Given the description of an element on the screen output the (x, y) to click on. 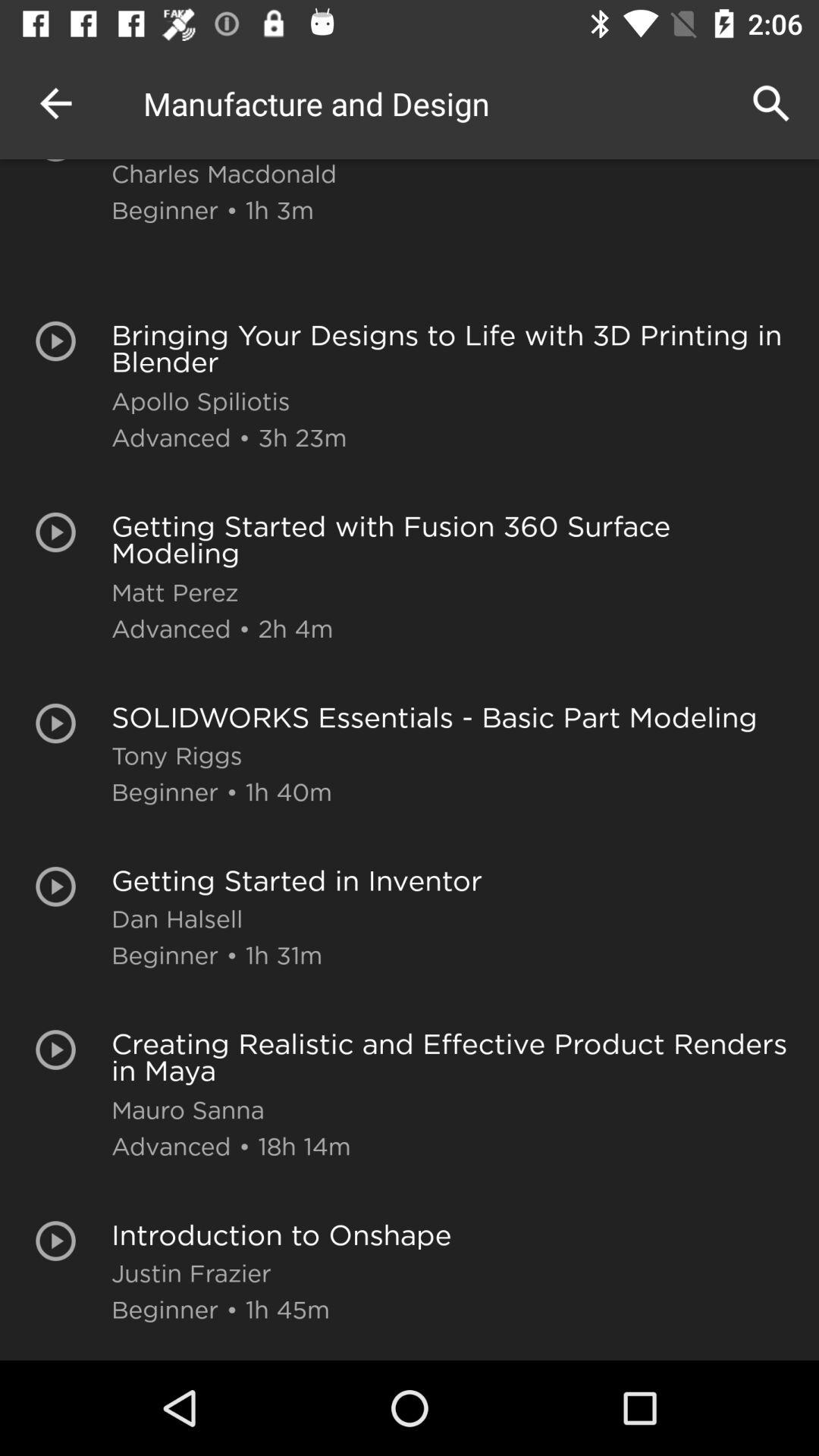
launch the icon to the left of the charles macdonald item (55, 103)
